Given the description of an element on the screen output the (x, y) to click on. 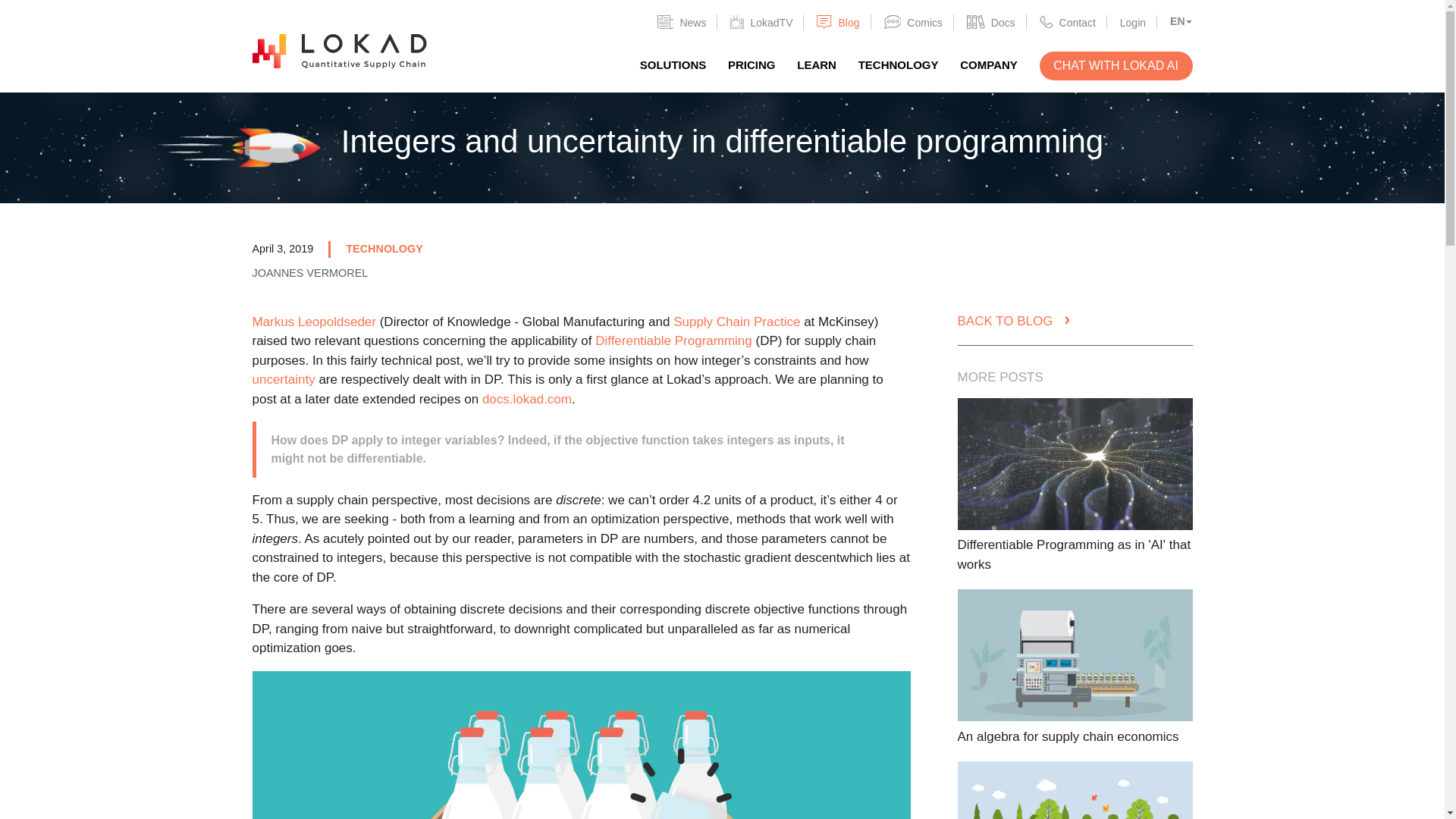
Supply Chain Practice (735, 321)
TECHNOLOGY (899, 64)
Blog (837, 21)
Login (1132, 21)
CHAT WITH LOKAD AI (1115, 65)
LokadTV (761, 21)
Markus Leopoldseder (313, 321)
COMPANY (988, 64)
PRICING (752, 64)
An algebra for supply chain economics (1066, 736)
